Given the description of an element on the screen output the (x, y) to click on. 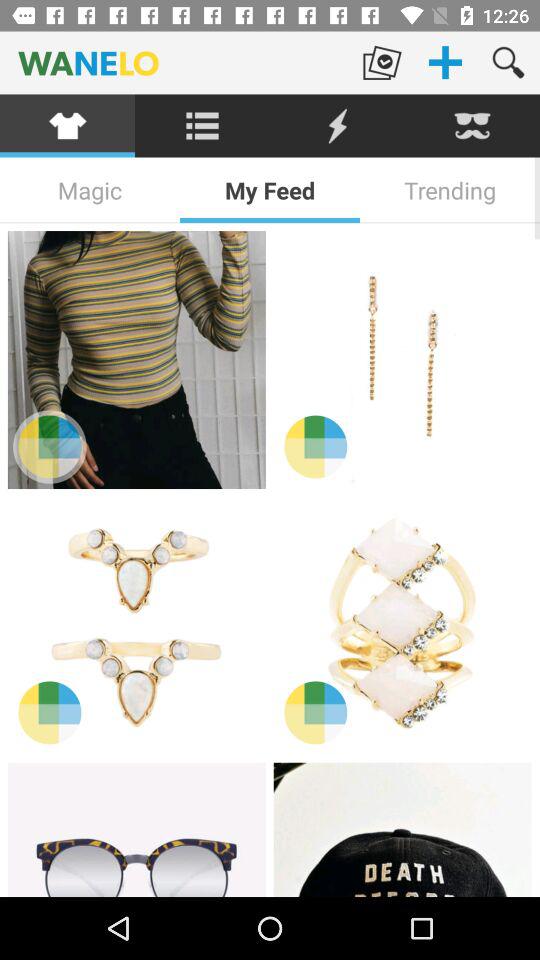
pick the image (136, 625)
